Given the description of an element on the screen output the (x, y) to click on. 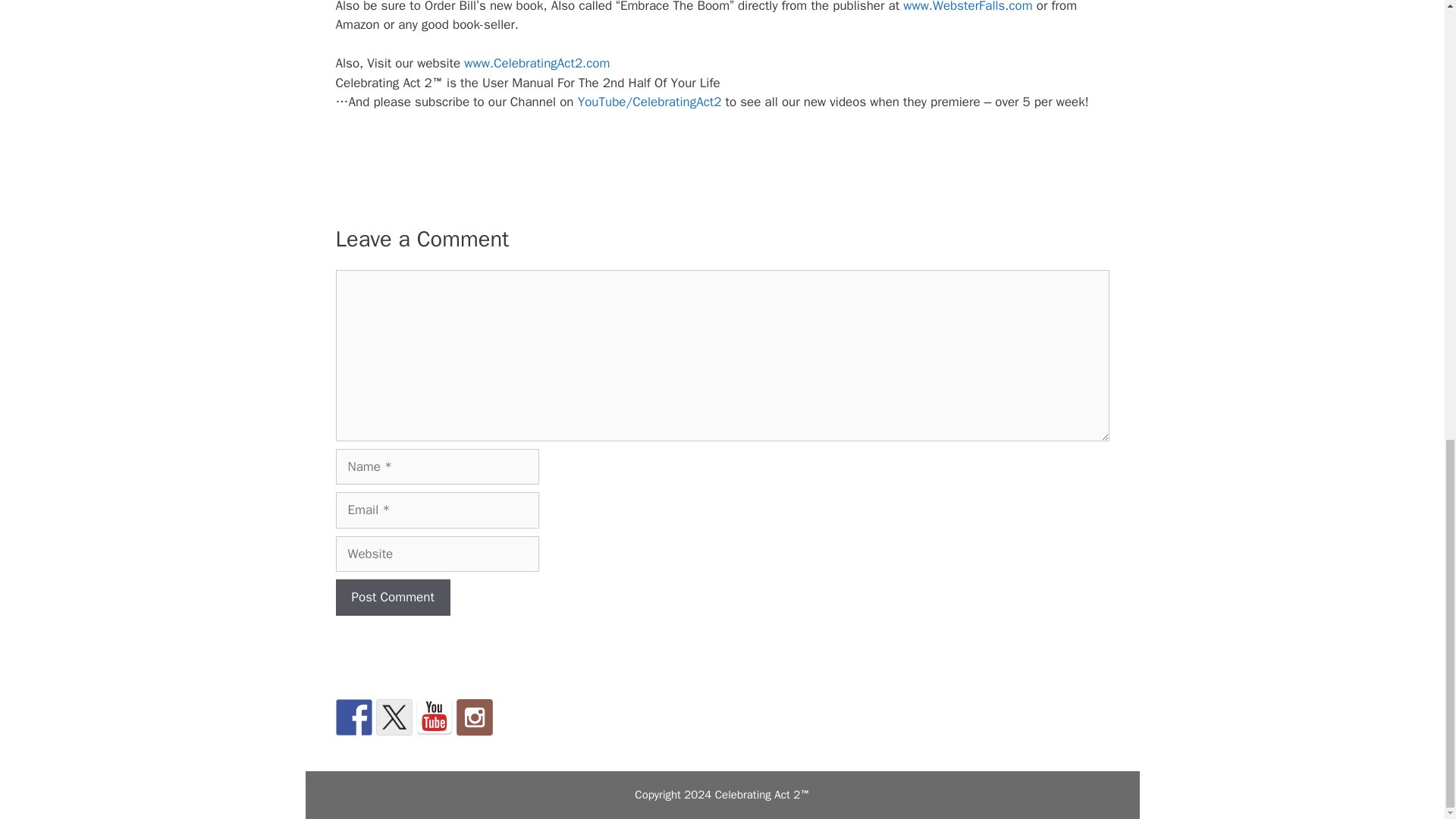
Post Comment (391, 597)
www.WebsterFalls.com (967, 6)
Scroll back to top (1406, 583)
www.CelebratingAct2.com (537, 63)
Post Comment (391, 597)
Follow us on Facebook (352, 717)
Check out our instagram feed (475, 717)
Follow us on Twitter (393, 717)
Find us on YouTube (432, 717)
